Given the description of an element on the screen output the (x, y) to click on. 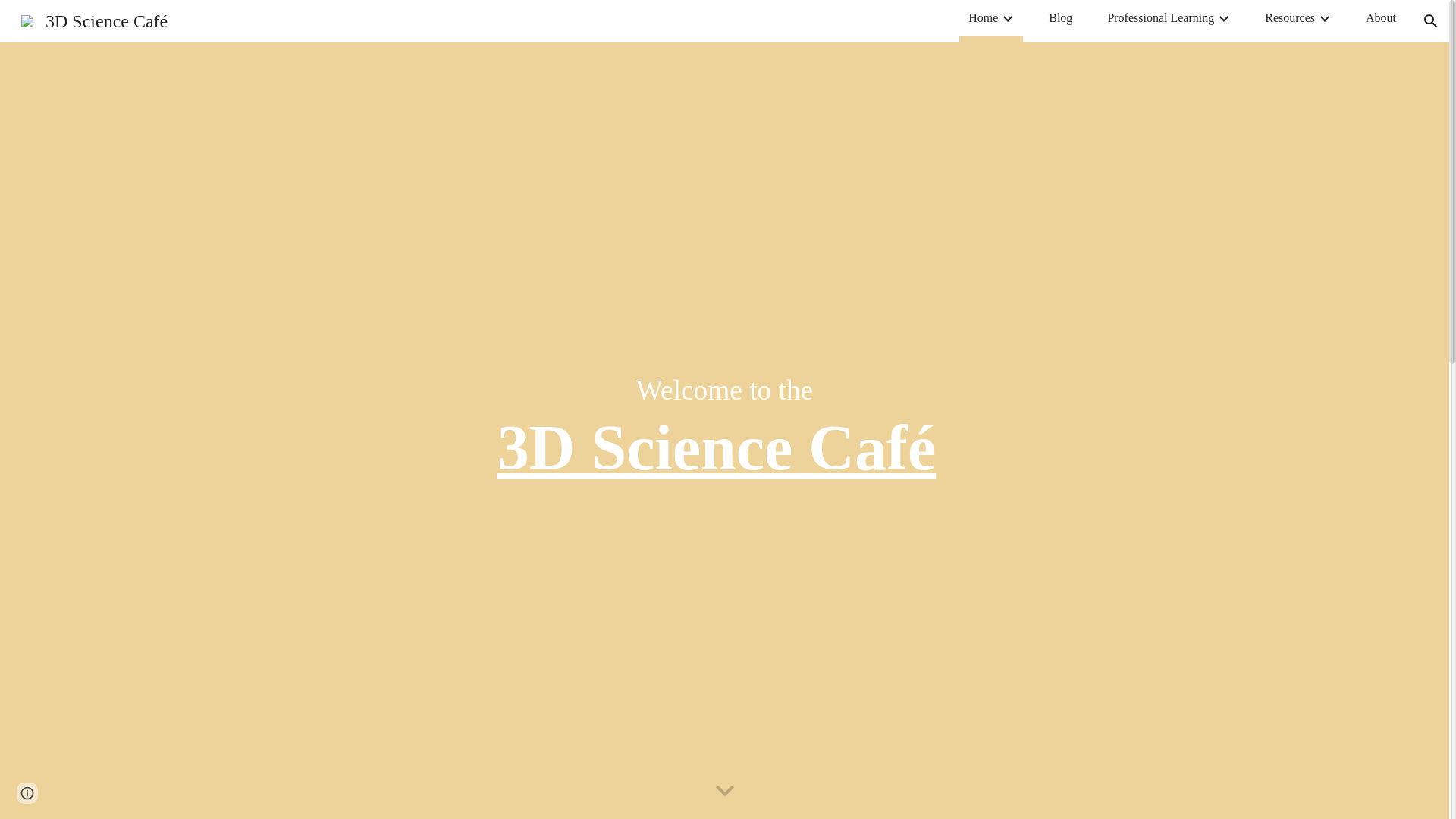
About (1380, 17)
Resources (1289, 17)
Professional Learning (1160, 17)
Home (982, 17)
Blog (1059, 17)
